Given the description of an element on the screen output the (x, y) to click on. 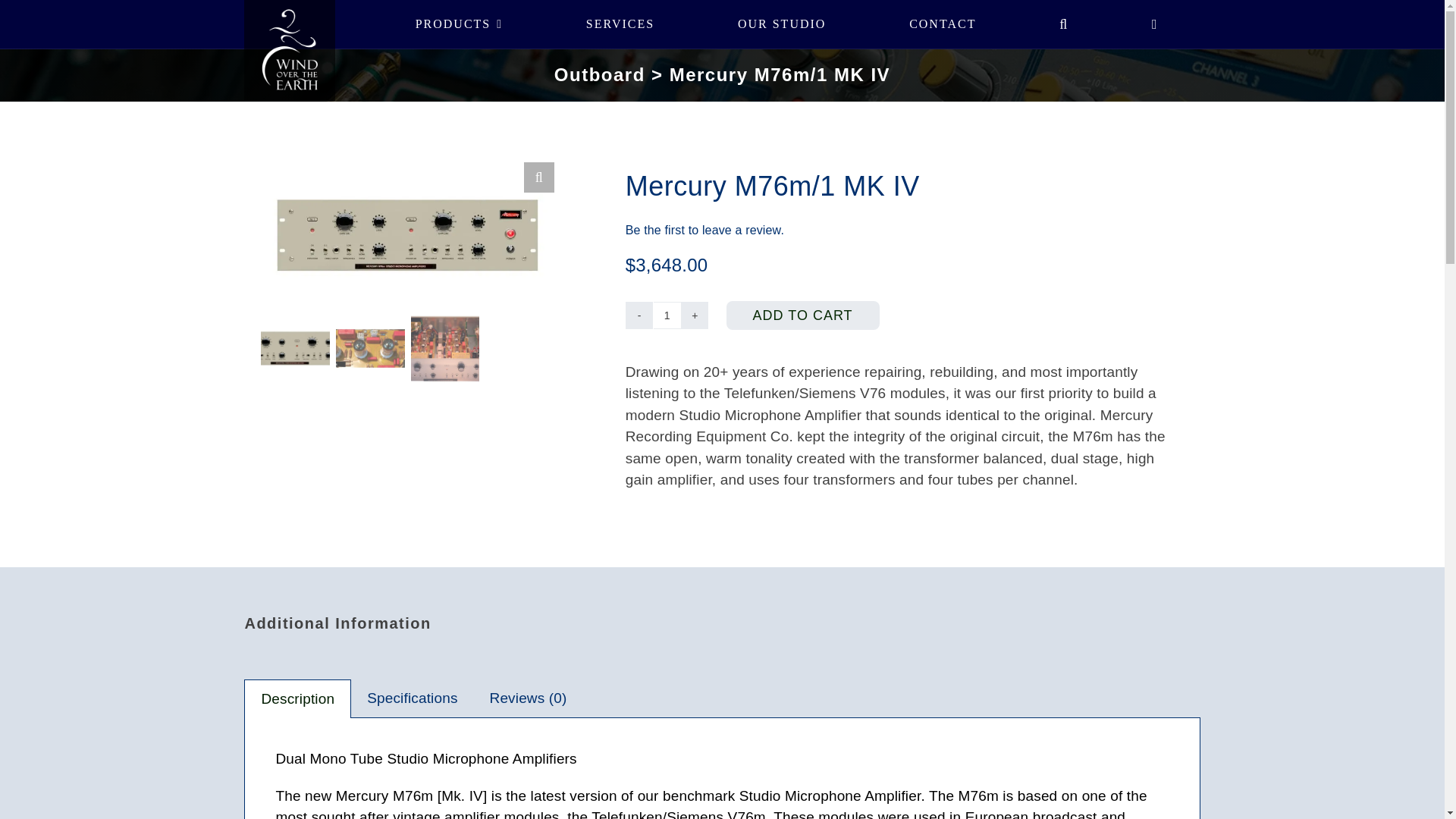
CONTACT (941, 24)
MER3-3 (700, 235)
SERVICES (619, 24)
- (639, 315)
OUR STUDIO (781, 24)
1 (667, 315)
PRODUCTS (458, 24)
MER3-1 (406, 235)
